Given the description of an element on the screen output the (x, y) to click on. 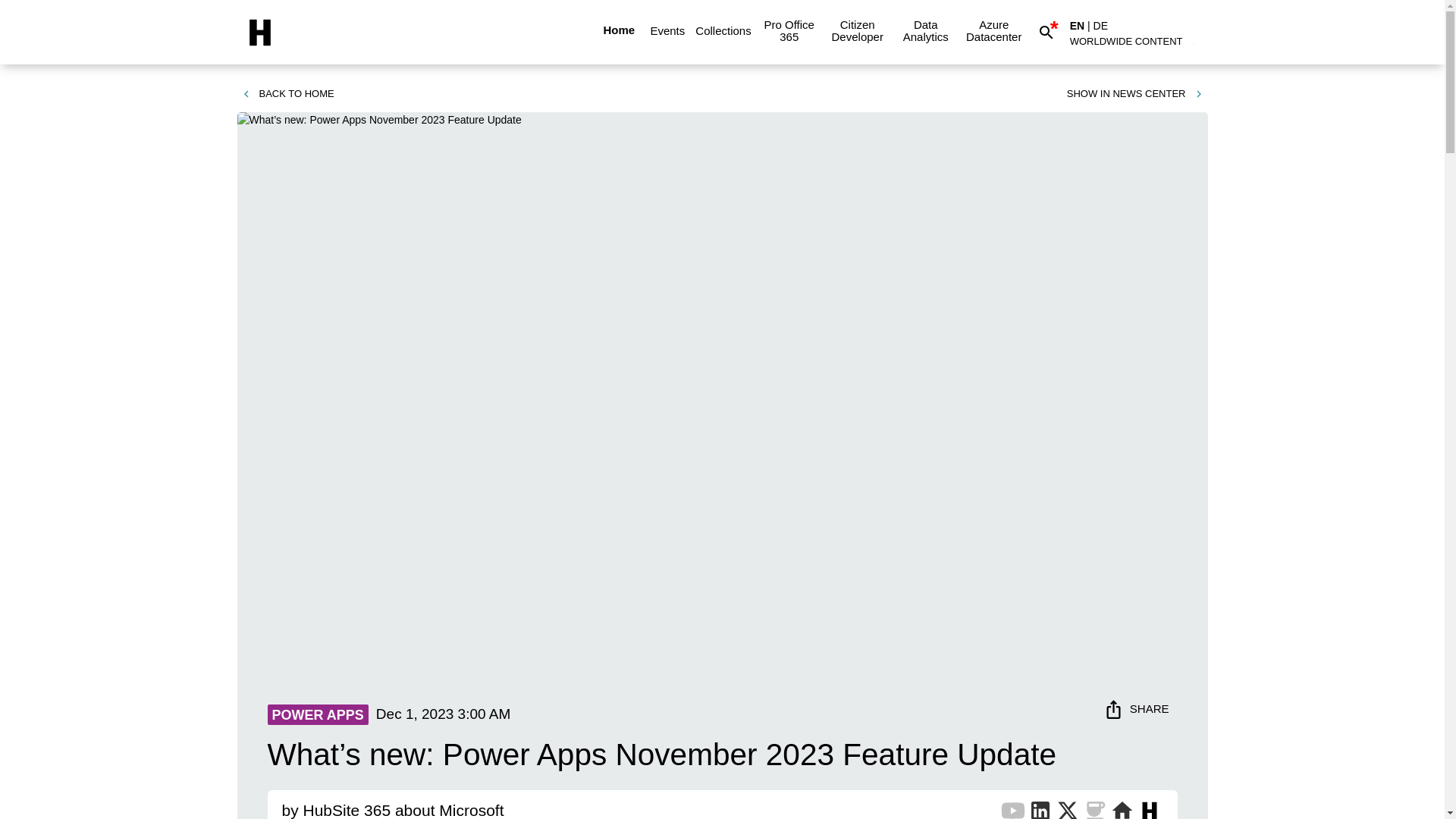
Pro Office 365 (789, 31)
BACK TO HOME (286, 94)
Events (667, 31)
Azure Datacenter (993, 31)
SHOW IN NEWS CENTER (1135, 94)
SHARE (1137, 708)
Citizen Developer (857, 31)
Data Analytics (925, 31)
Home (618, 30)
Collections (722, 31)
